Given the description of an element on the screen output the (x, y) to click on. 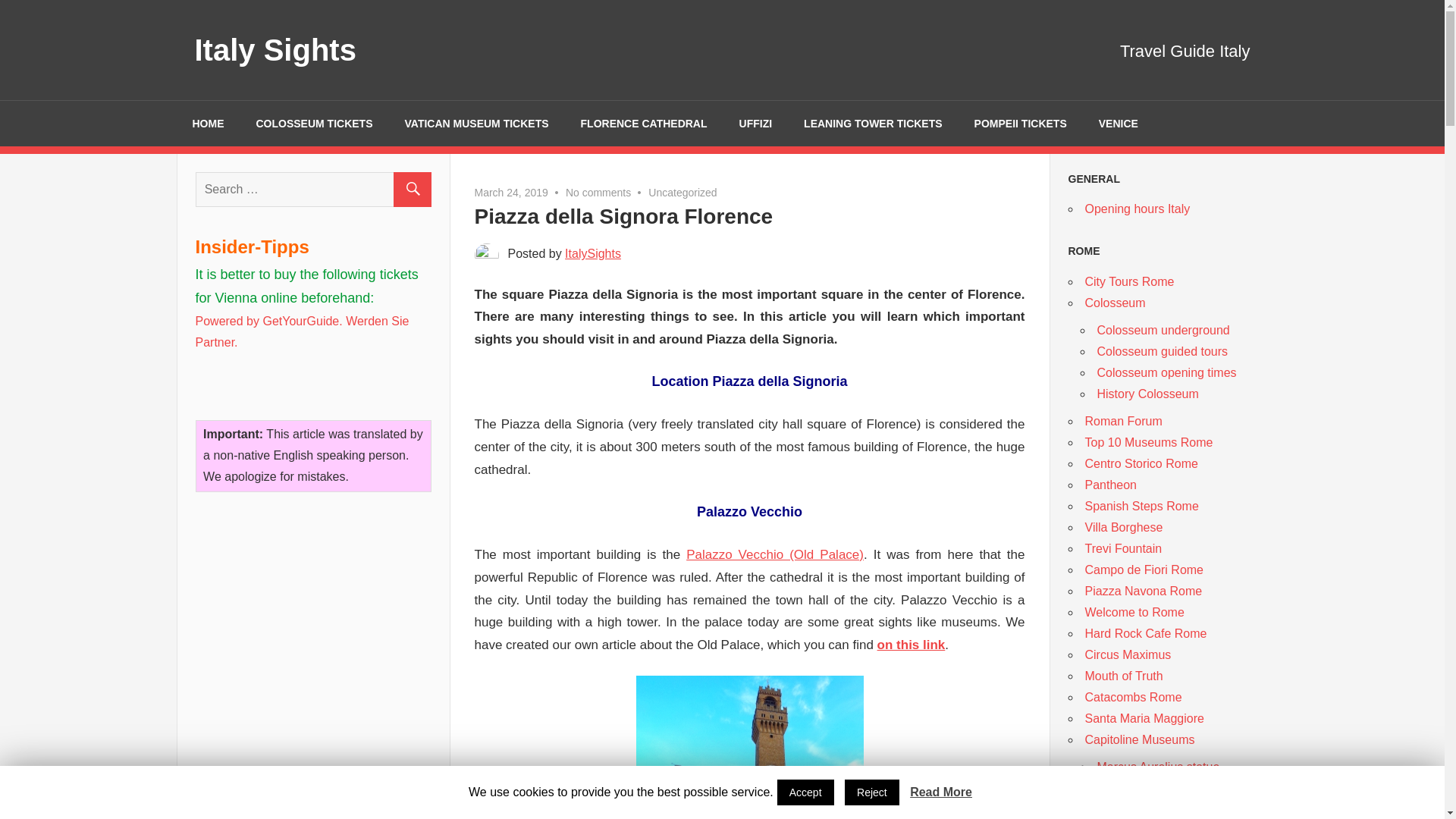
FLORENCE CATHEDRAL (643, 123)
POMPEII TICKETS (1020, 123)
Uncategorized (681, 192)
Opening hours Italy (1136, 208)
History Colosseum (1147, 393)
UFFIZI (756, 123)
on this link (910, 644)
Search for: (312, 188)
Werden Sie Partner. (302, 330)
City Tours Rome (1128, 281)
Powered by GetYourGuide. (268, 319)
March 24, 2019 (511, 192)
HOME (208, 123)
Colosseum guided tours (1161, 350)
Colosseum underground (1162, 329)
